Given the description of an element on the screen output the (x, y) to click on. 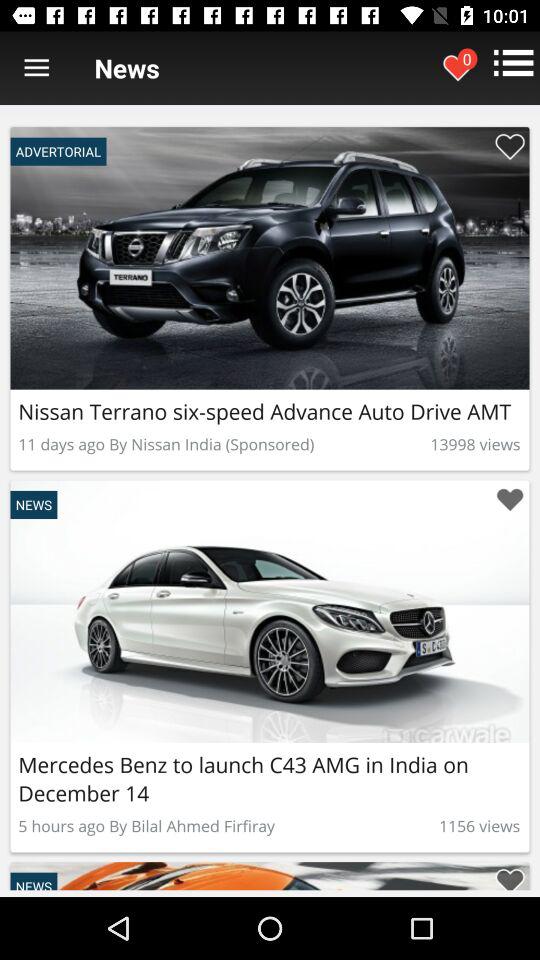
like c43 amg (509, 876)
